Given the description of an element on the screen output the (x, y) to click on. 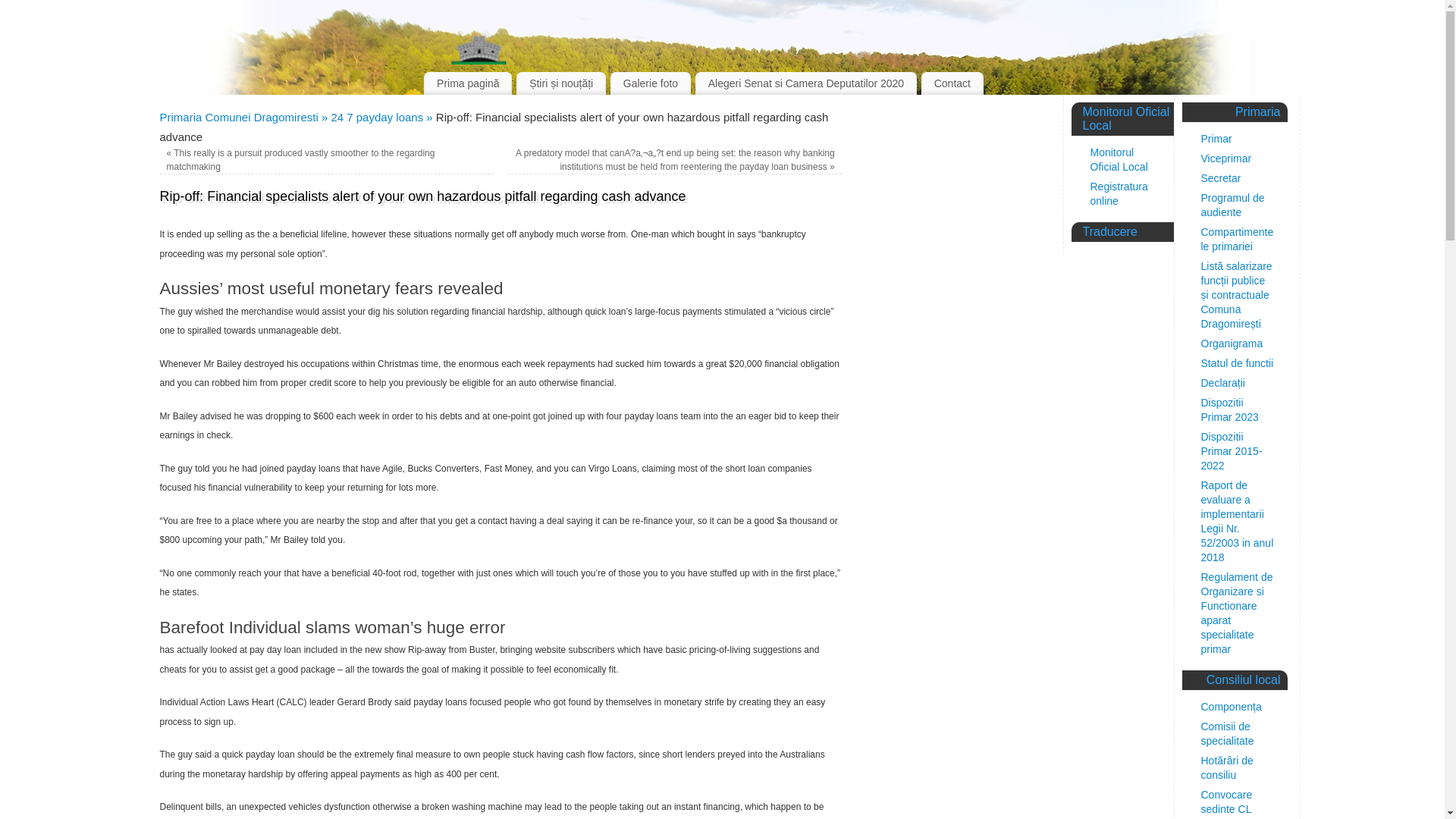
Secretar (1221, 177)
Primar (1216, 138)
Alegeri Senat si Camera Deputatilor 2020 (806, 83)
Viceprimar (1226, 158)
Contact (952, 83)
Galerie foto (650, 83)
Compartimentele primariei (1237, 239)
Programul de audiente (1233, 204)
